Given the description of an element on the screen output the (x, y) to click on. 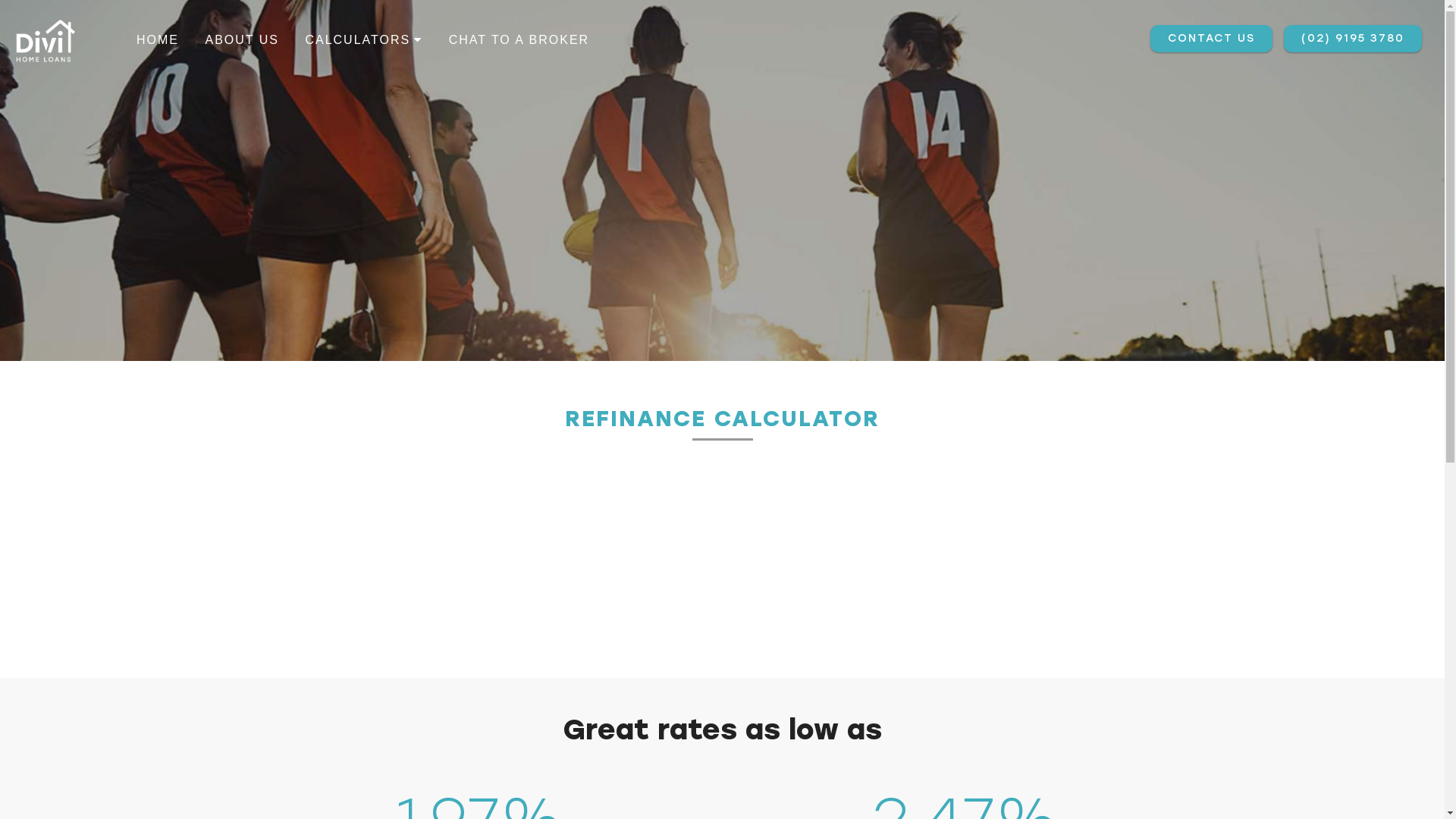
CHAT TO A BROKER Element type: text (518, 39)
CALCULATORS Element type: text (363, 39)
CONTACT US Element type: text (1211, 37)
HOME Element type: text (157, 39)
ABOUT US Element type: text (241, 39)
(02) 9195 3780 Element type: text (1352, 37)
